Given the description of an element on the screen output the (x, y) to click on. 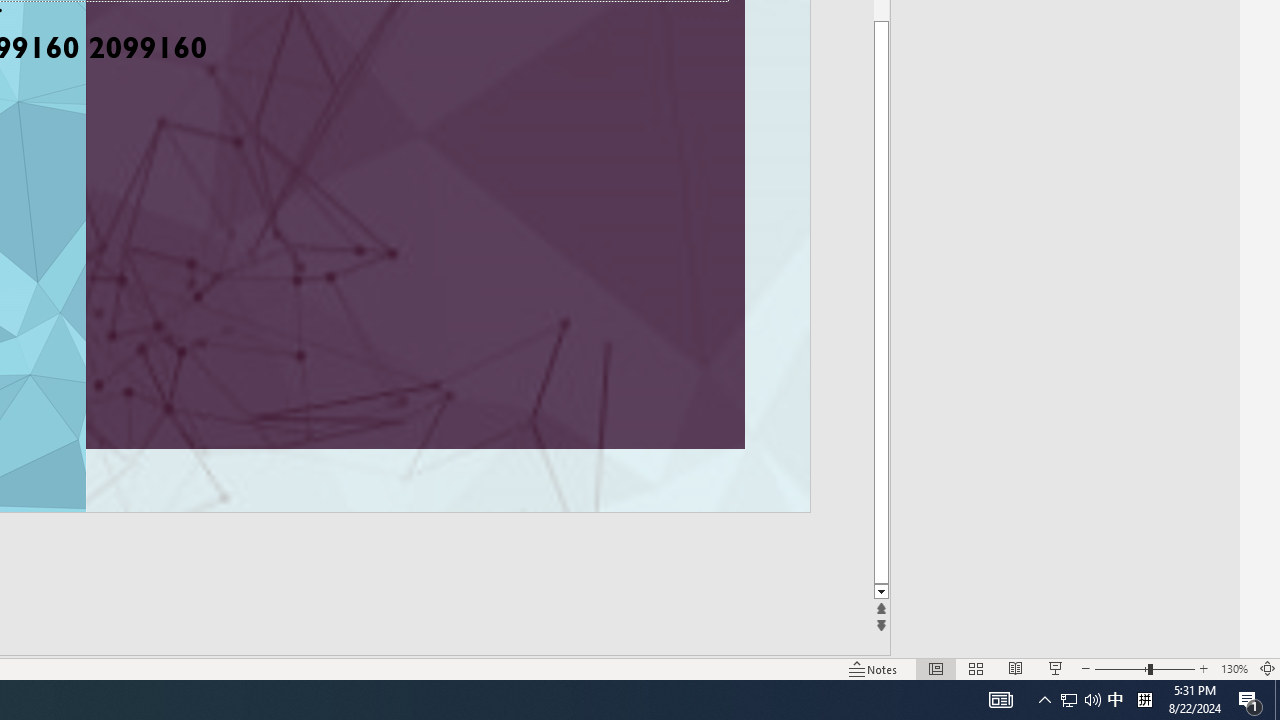
Zoom 130% (1234, 668)
